Given the description of an element on the screen output the (x, y) to click on. 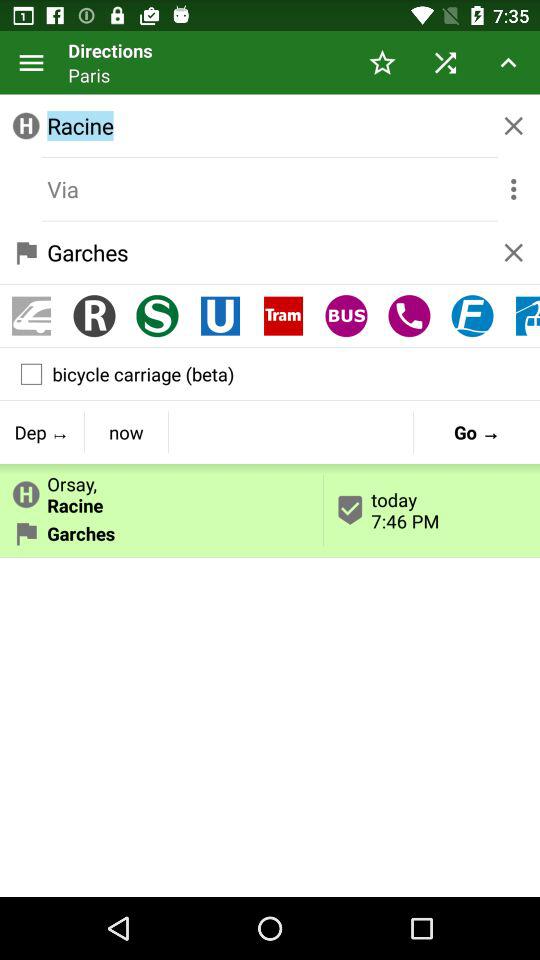
turn off item below the garches icon (283, 315)
